Given the description of an element on the screen output the (x, y) to click on. 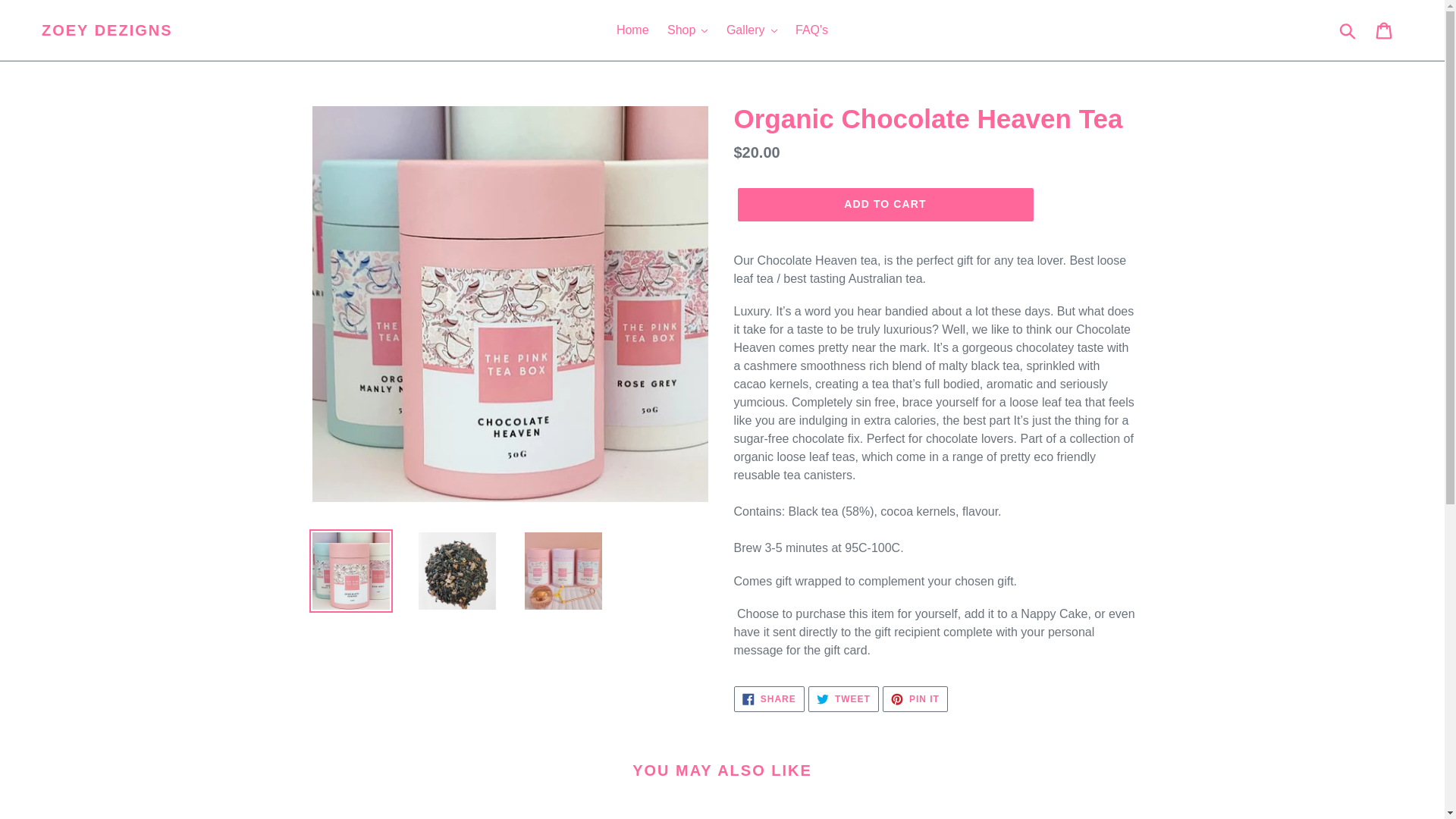
FAQ's (811, 29)
ZOEY DEZIGNS (107, 30)
Home (632, 29)
Cart (1385, 29)
Submit (1348, 29)
